Given the description of an element on the screen output the (x, y) to click on. 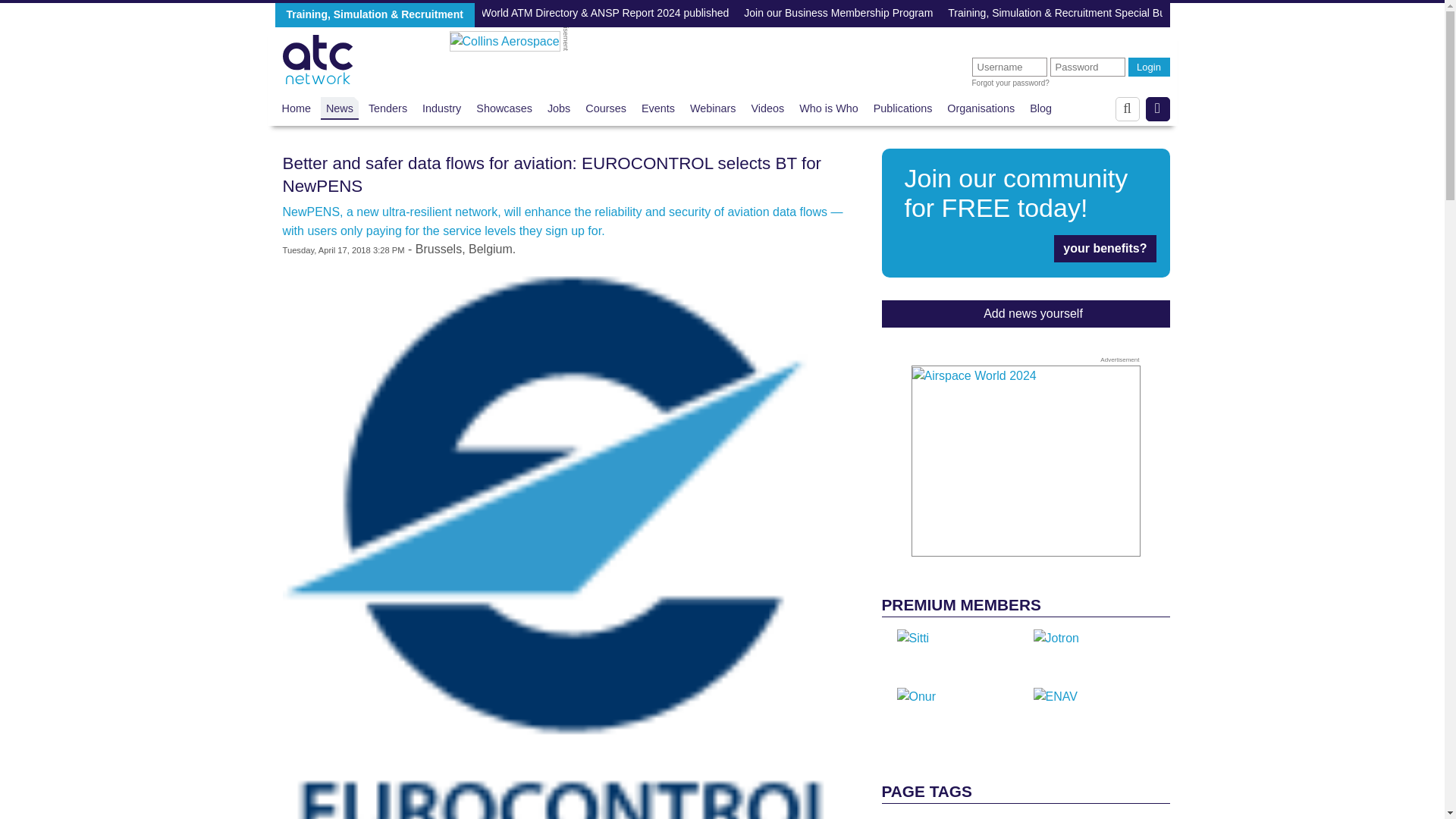
Reset your password (1010, 83)
Who is Who (829, 108)
Courses (605, 108)
Videos (767, 108)
Join our Business Membership Program (838, 13)
Blog (1040, 108)
Webinars (713, 108)
Login (1149, 66)
Home (296, 108)
Events (658, 108)
Jobs (558, 108)
Register here (1024, 212)
Showcases (1024, 212)
News (504, 108)
